Given the description of an element on the screen output the (x, y) to click on. 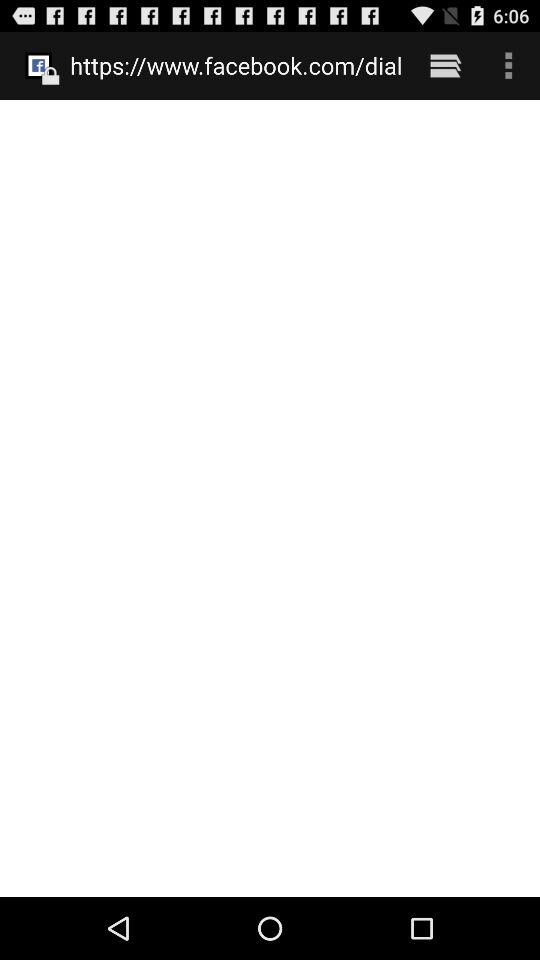
tap icon to the right of the https www facebook icon (444, 65)
